Given the description of an element on the screen output the (x, y) to click on. 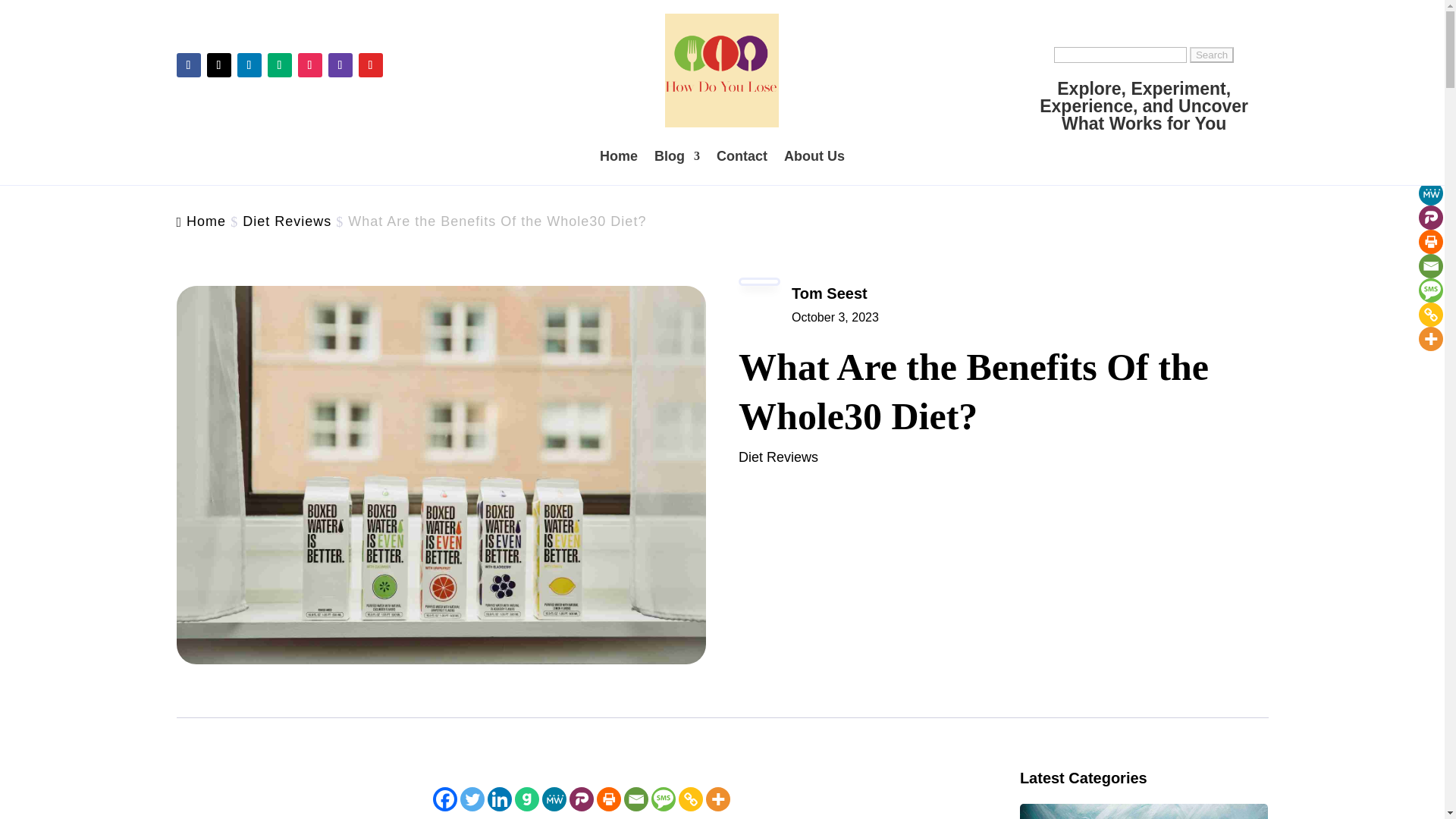
Parler (581, 799)
About Us (814, 156)
Gab (526, 799)
Follow on X (218, 64)
Follow on Twitch (339, 64)
Linkedin (499, 799)
Twitter (472, 799)
Follow on FlipBoard (369, 64)
Print (608, 799)
Diet Reviews (287, 221)
Home (205, 221)
Facebook (444, 799)
Follow on Instagram (309, 64)
Follow on LinkedIn (247, 64)
